Given the description of an element on the screen output the (x, y) to click on. 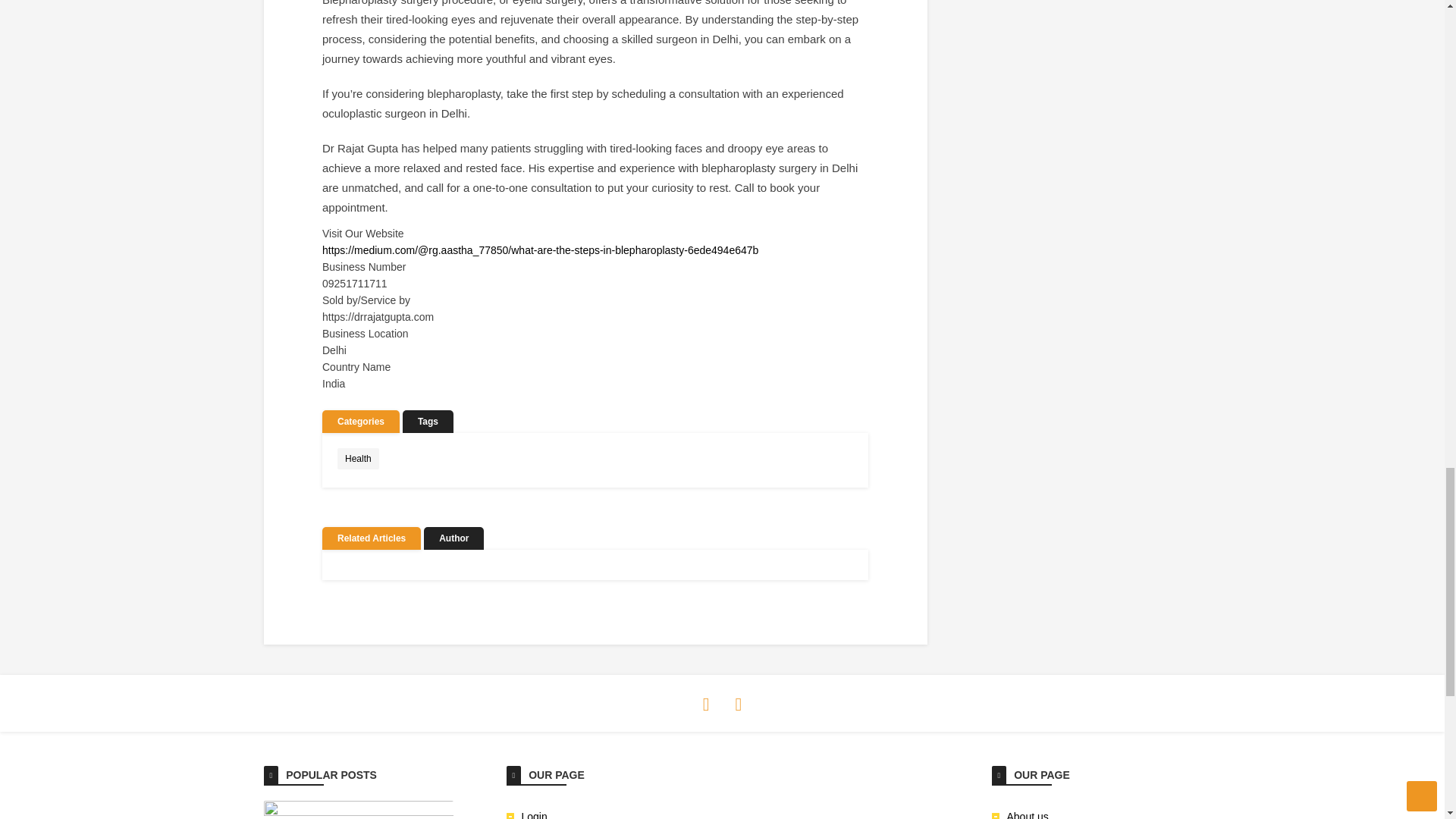
Author (453, 538)
Categories (359, 421)
Health (357, 458)
Related Articles (370, 538)
Tags (427, 421)
